Given the description of an element on the screen output the (x, y) to click on. 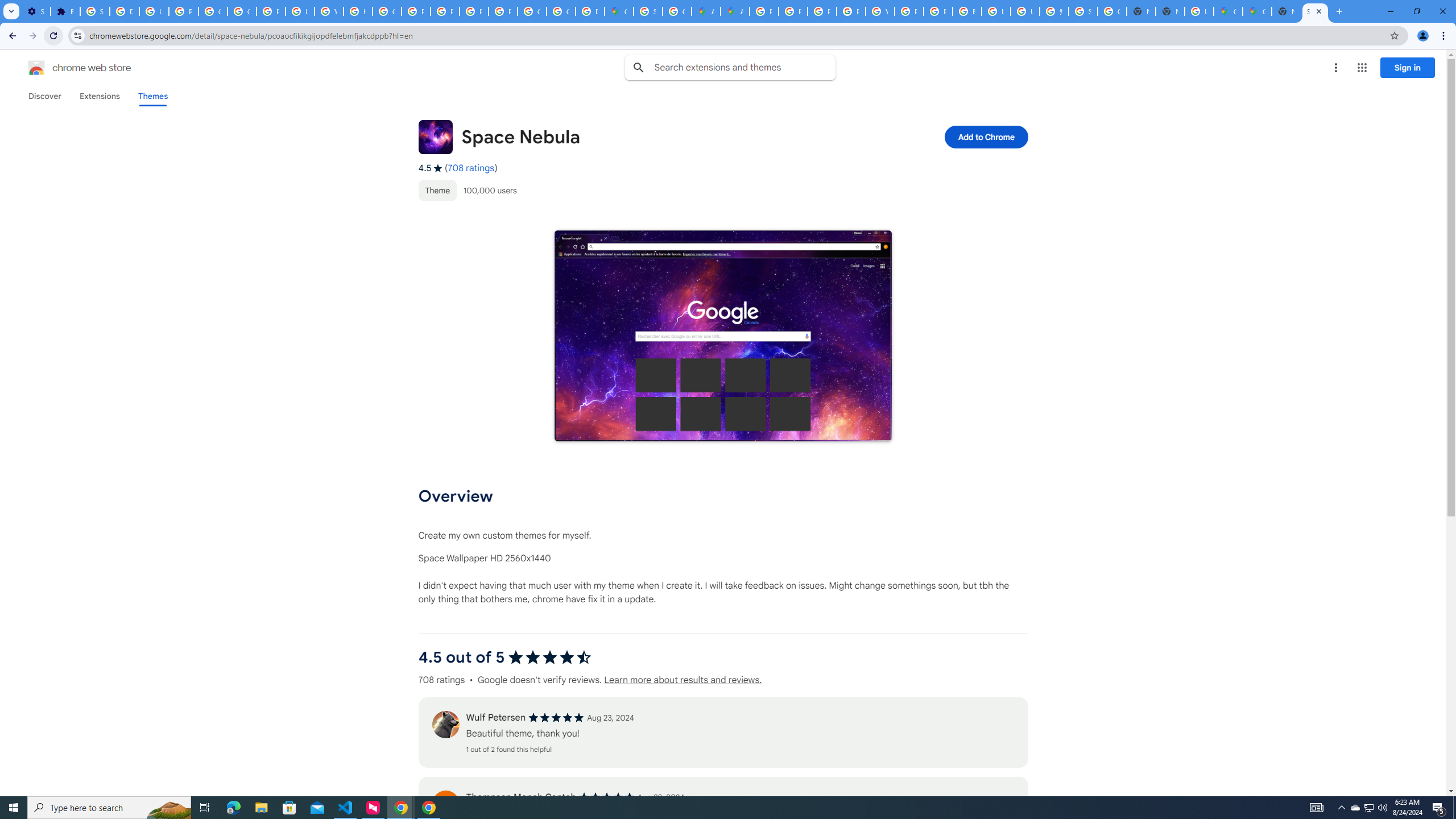
Policy Accountability and Transparency - Transparency Center (763, 11)
Sign in - Google Accounts (648, 11)
Sign in - Google Accounts (1082, 11)
Delete photos & videos - Computer - Google Photos Help (124, 11)
New Tab (1169, 11)
Discover (43, 95)
More options menu (1335, 67)
